Given the description of an element on the screen output the (x, y) to click on. 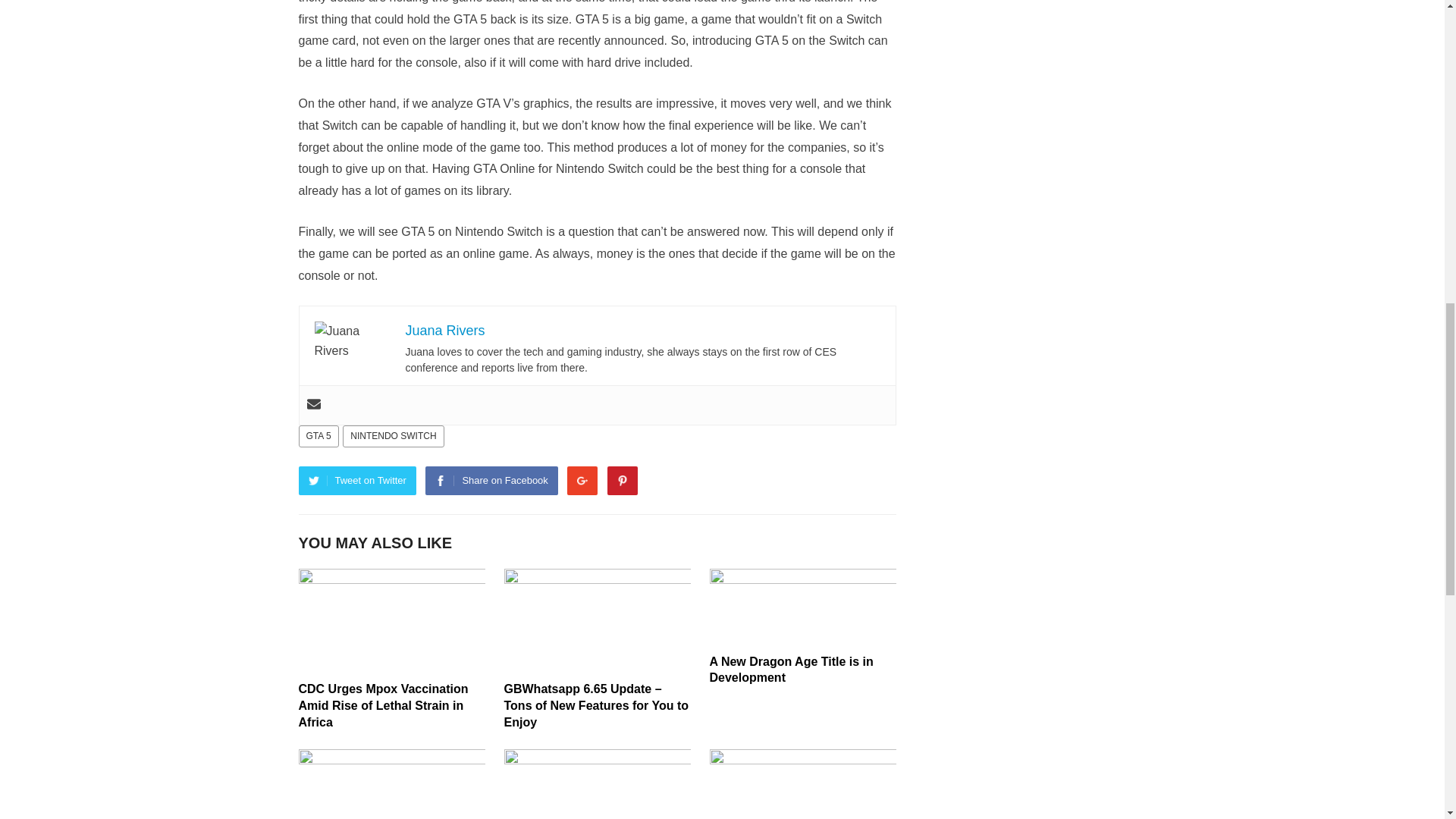
Tweet on Twitter (357, 480)
NINTENDO SWITCH (393, 436)
Share on Facebook (491, 480)
GTA 5 (318, 436)
A New Dragon Age Title is in Development (791, 669)
Juana Rivers (444, 330)
Pinterest (622, 480)
